Given the description of an element on the screen output the (x, y) to click on. 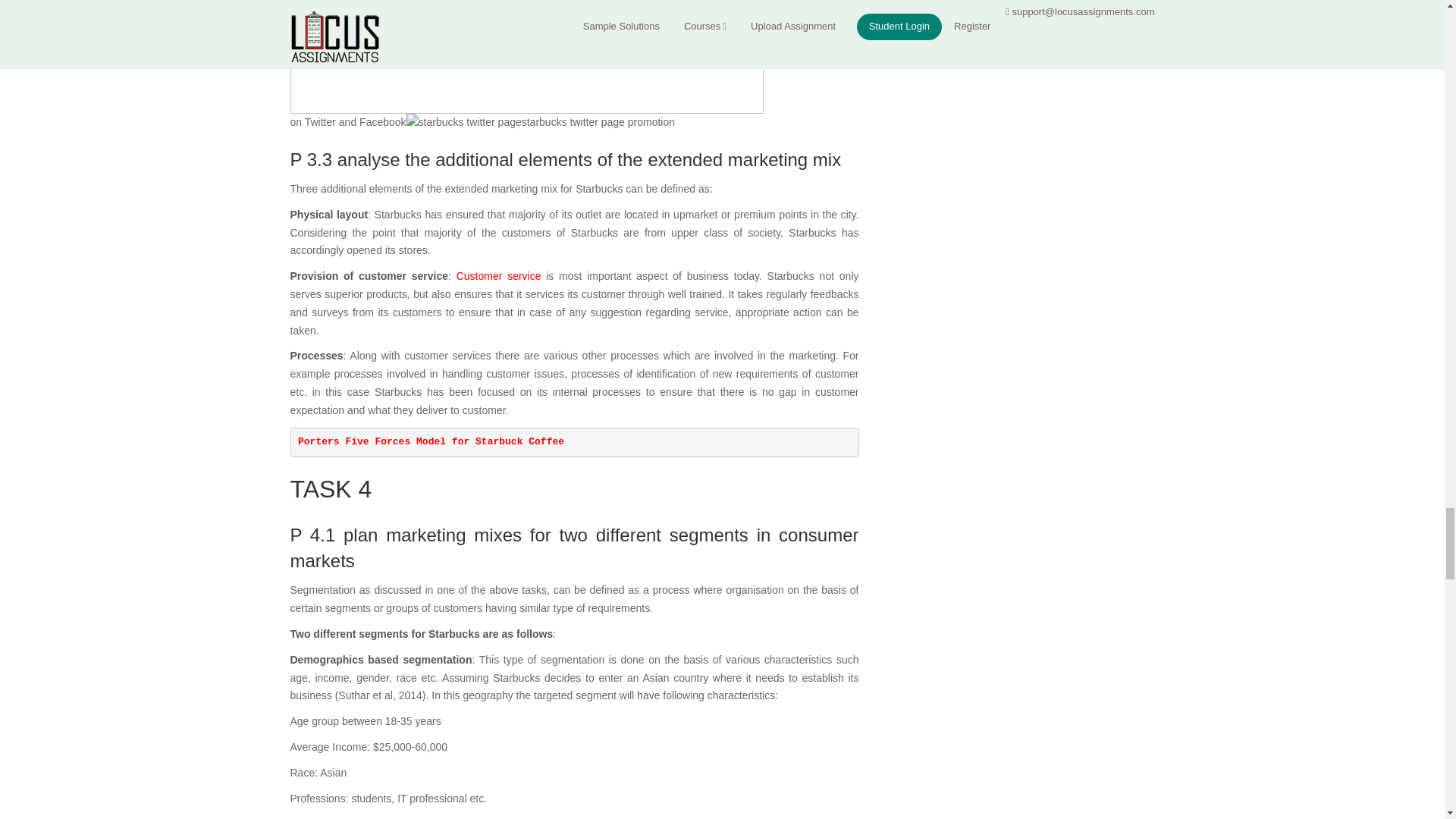
Porters Five Forces Model for Starbuck Coffee (431, 441)
Customer service (499, 275)
